Given the description of an element on the screen output the (x, y) to click on. 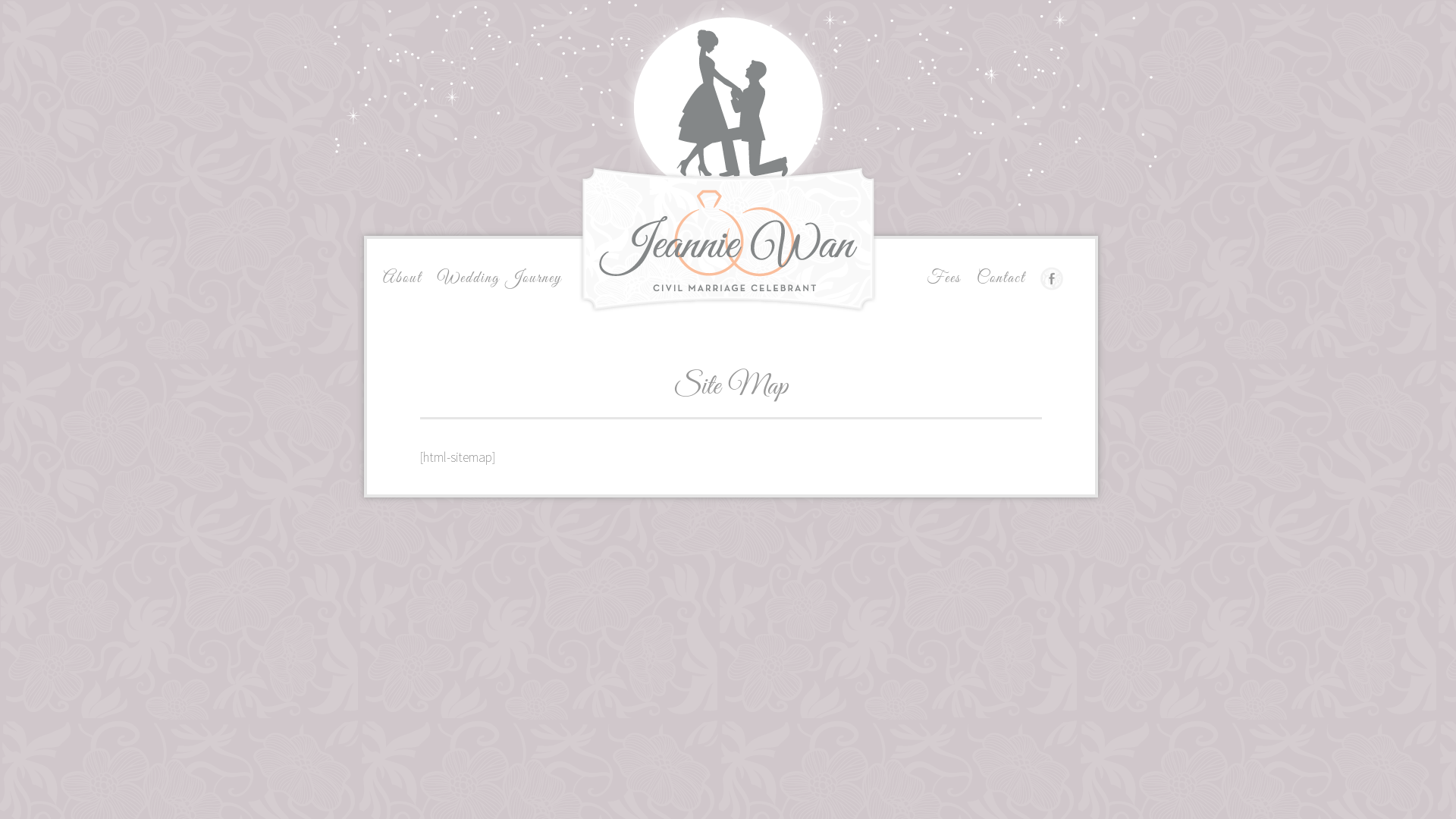
Wedding Journey Element type: text (499, 278)
Fees Element type: text (943, 278)
About Element type: text (401, 278)
Contact Element type: text (1000, 278)
